Given the description of an element on the screen output the (x, y) to click on. 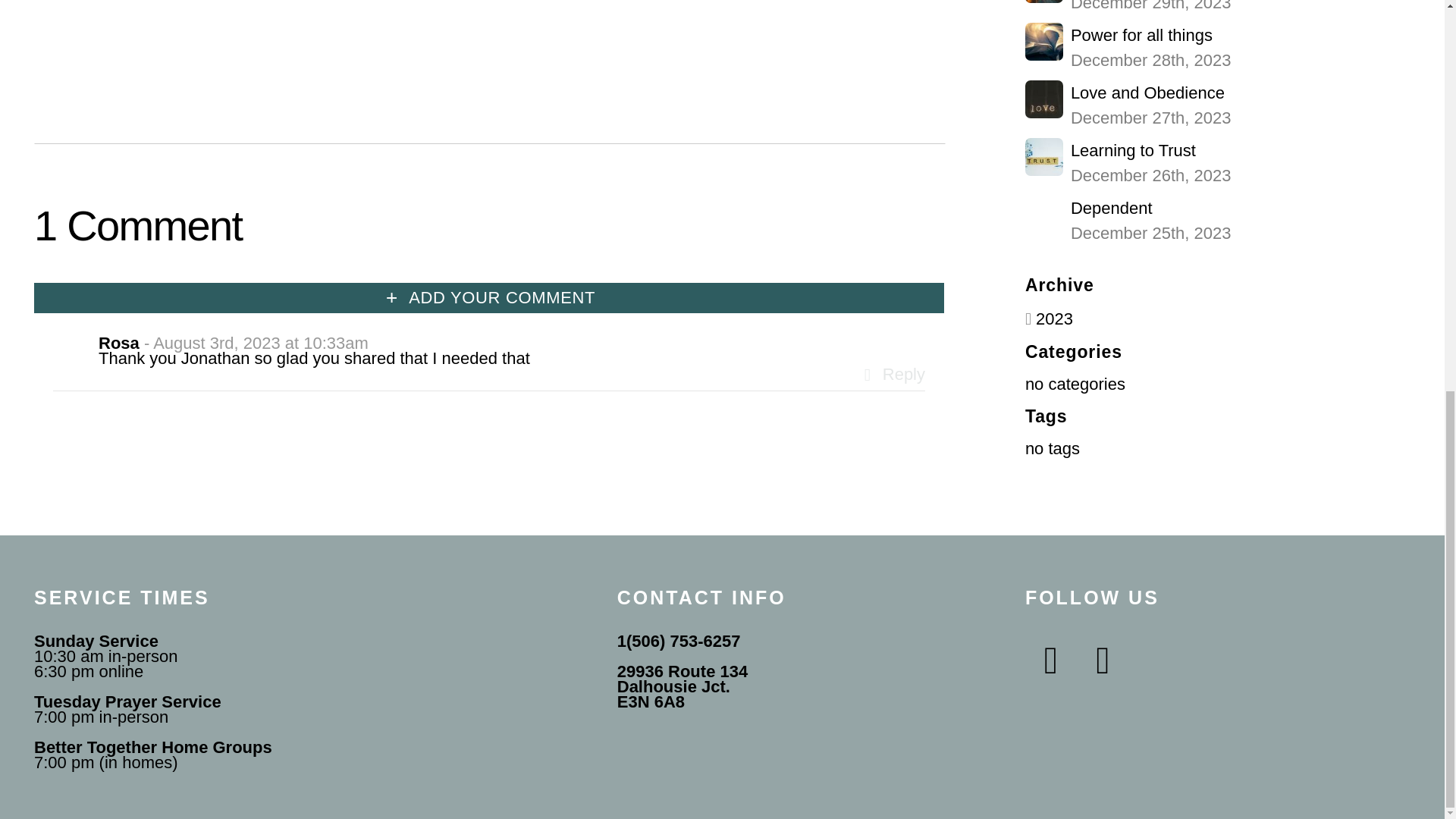
Reply (1217, 220)
ADD YOUR COMMENT (890, 374)
